Given the description of an element on the screen output the (x, y) to click on. 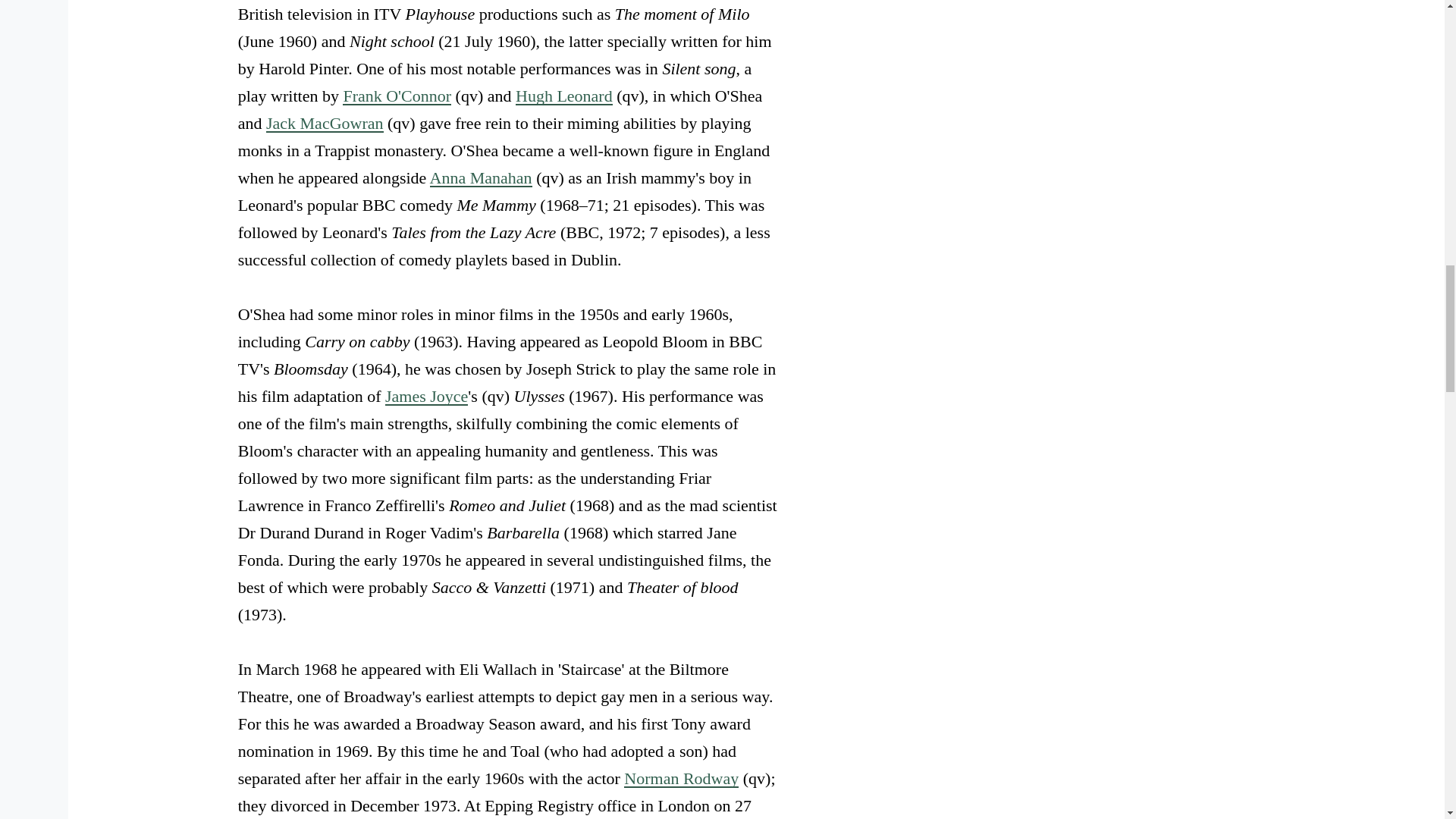
Jack MacGowran (325, 122)
Hugh Leonard (563, 95)
Frank O'Connor (396, 95)
